Given the description of an element on the screen output the (x, y) to click on. 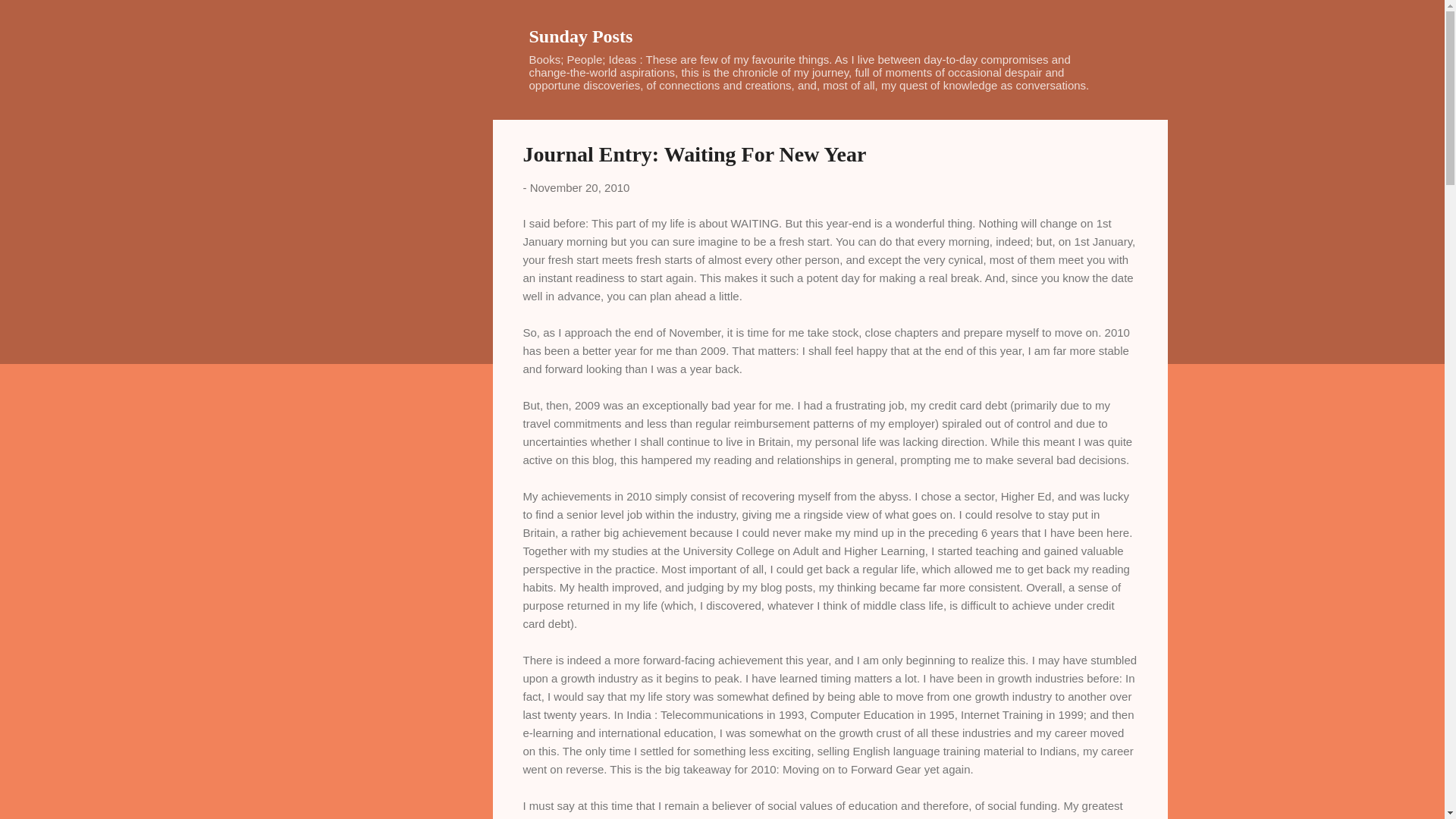
Search (29, 18)
permanent link (579, 187)
Sunday Posts (581, 35)
November 20, 2010 (579, 187)
